Given the description of an element on the screen output the (x, y) to click on. 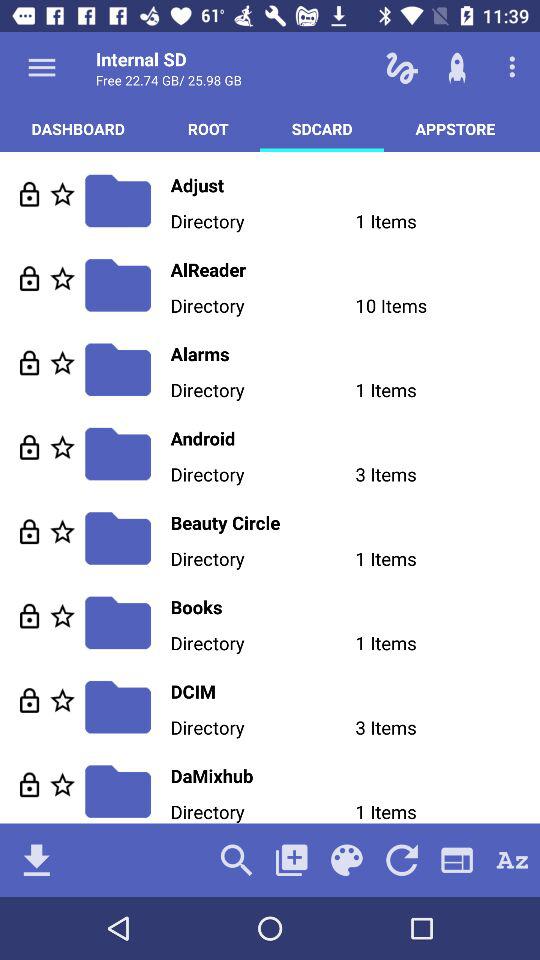
lock/unlock field (29, 446)
